Given the description of an element on the screen output the (x, y) to click on. 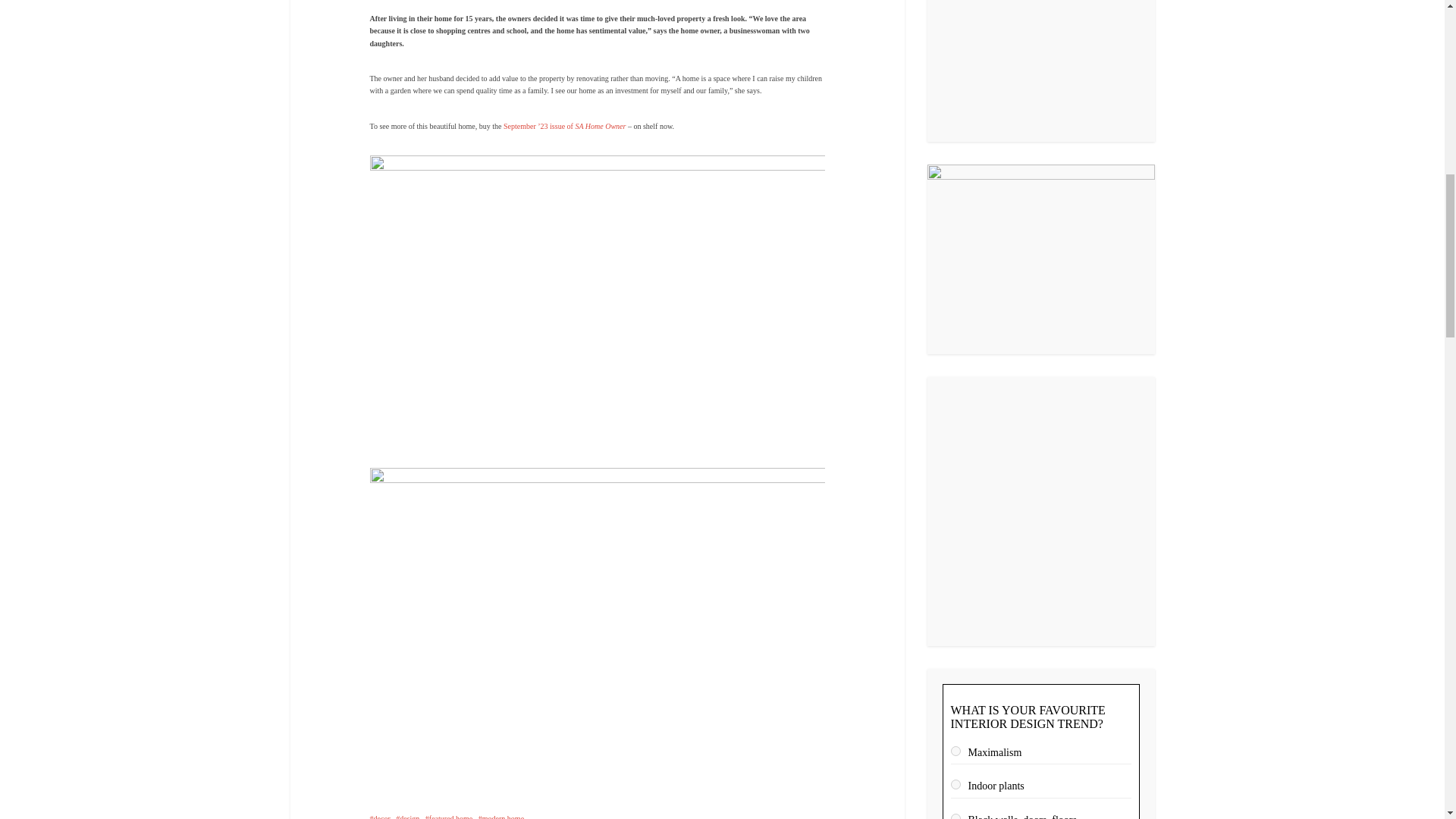
2 (955, 784)
3 (955, 816)
1 (955, 750)
